Given the description of an element on the screen output the (x, y) to click on. 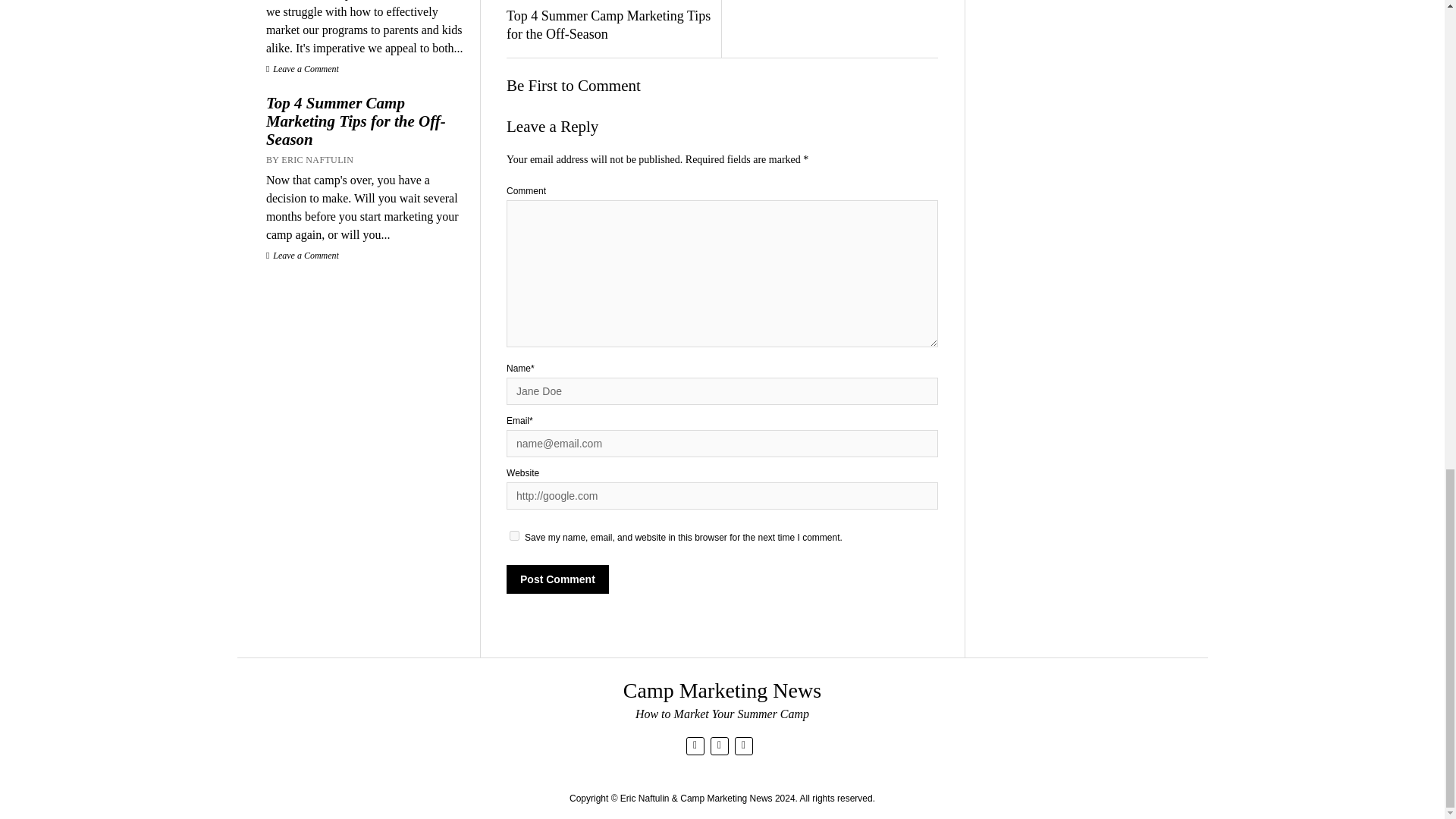
Top 4 Summer Camp Marketing Tips for the Off-Season (608, 25)
Leave a Comment (302, 255)
Top 4 Summer Camp Marketing Tips for the Off-Season (365, 121)
yes (514, 535)
Camp Marketing News (722, 689)
Post Comment (557, 579)
Post Comment (557, 579)
Leave a Comment (302, 68)
